Given the description of an element on the screen output the (x, y) to click on. 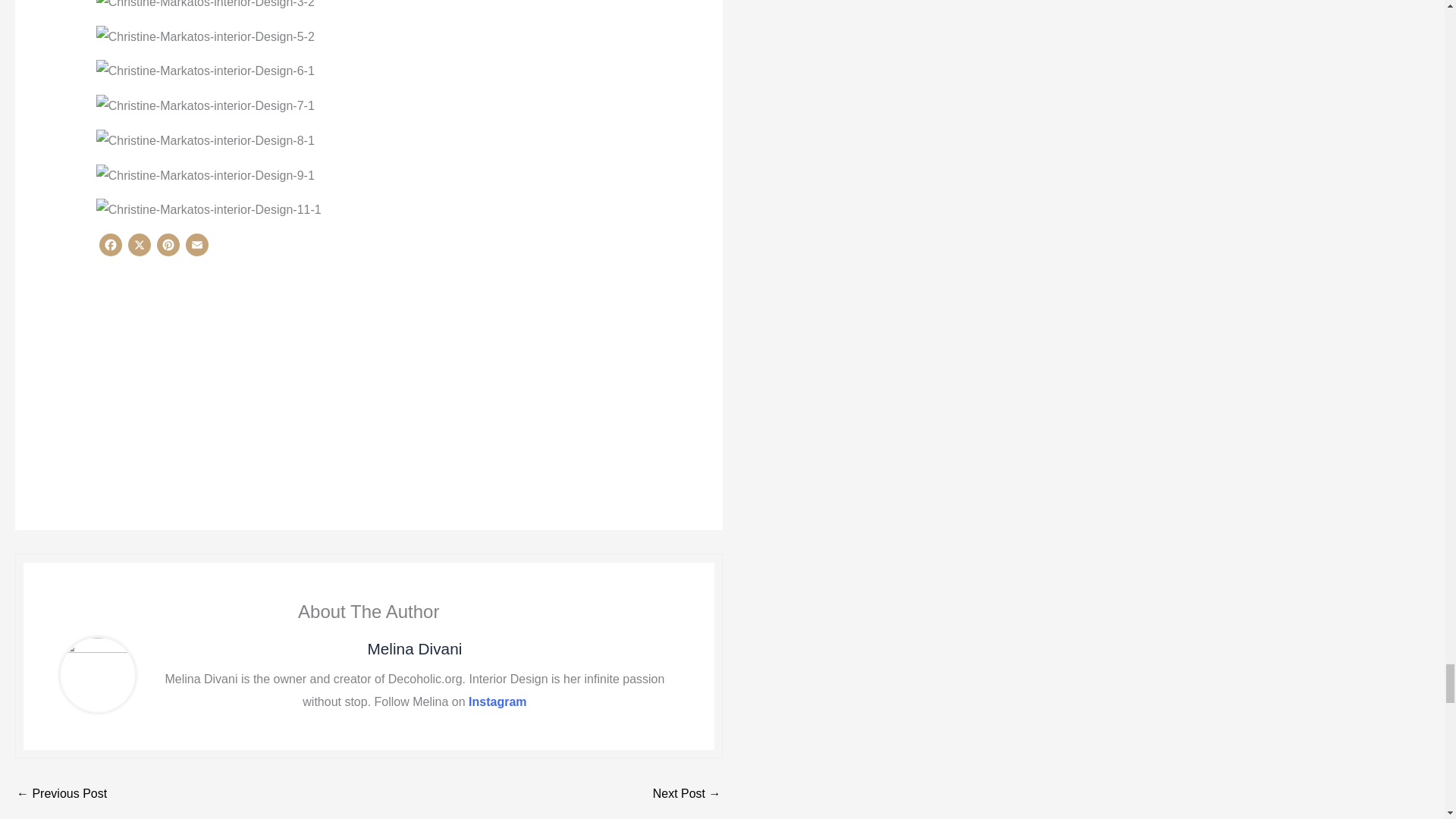
Pinterest (168, 248)
X (139, 248)
A Photographer's Exquisite Home (686, 793)
Facebook (110, 248)
Email (197, 248)
